Given the description of an element on the screen output the (x, y) to click on. 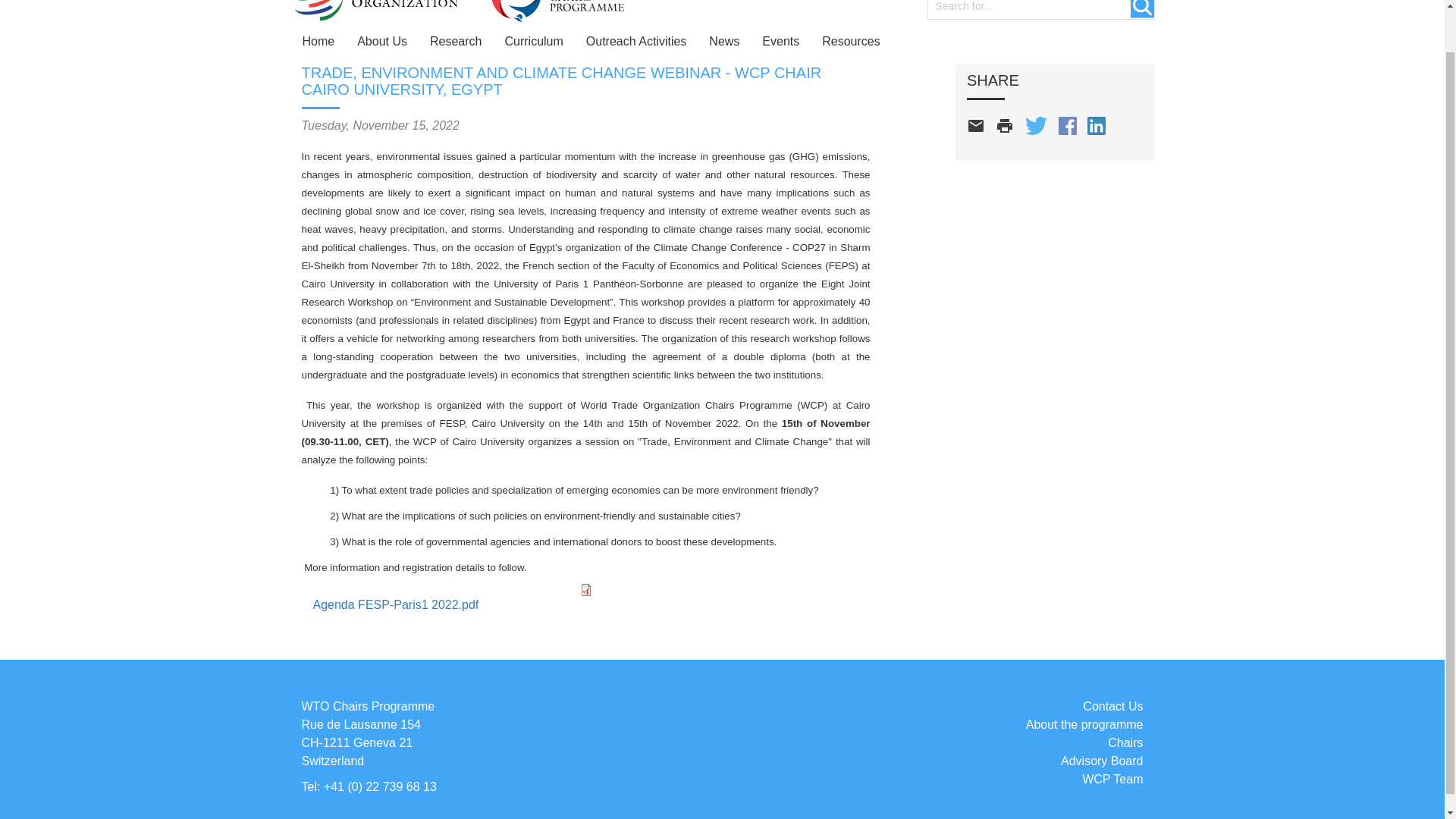
News (724, 41)
Outreach Activities (636, 41)
Resources (850, 41)
Chairs (1125, 742)
Events (780, 41)
About Us (382, 41)
Research (456, 41)
Curriculum (533, 41)
WTO Chairs events (780, 41)
Advisory Board (1101, 760)
